Given the description of an element on the screen output the (x, y) to click on. 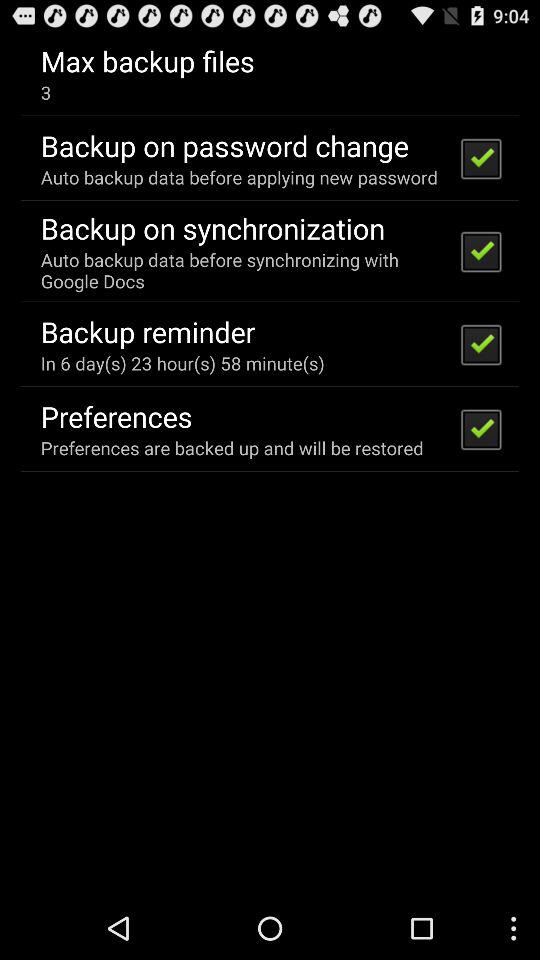
launch backup reminder icon (147, 331)
